Given the description of an element on the screen output the (x, y) to click on. 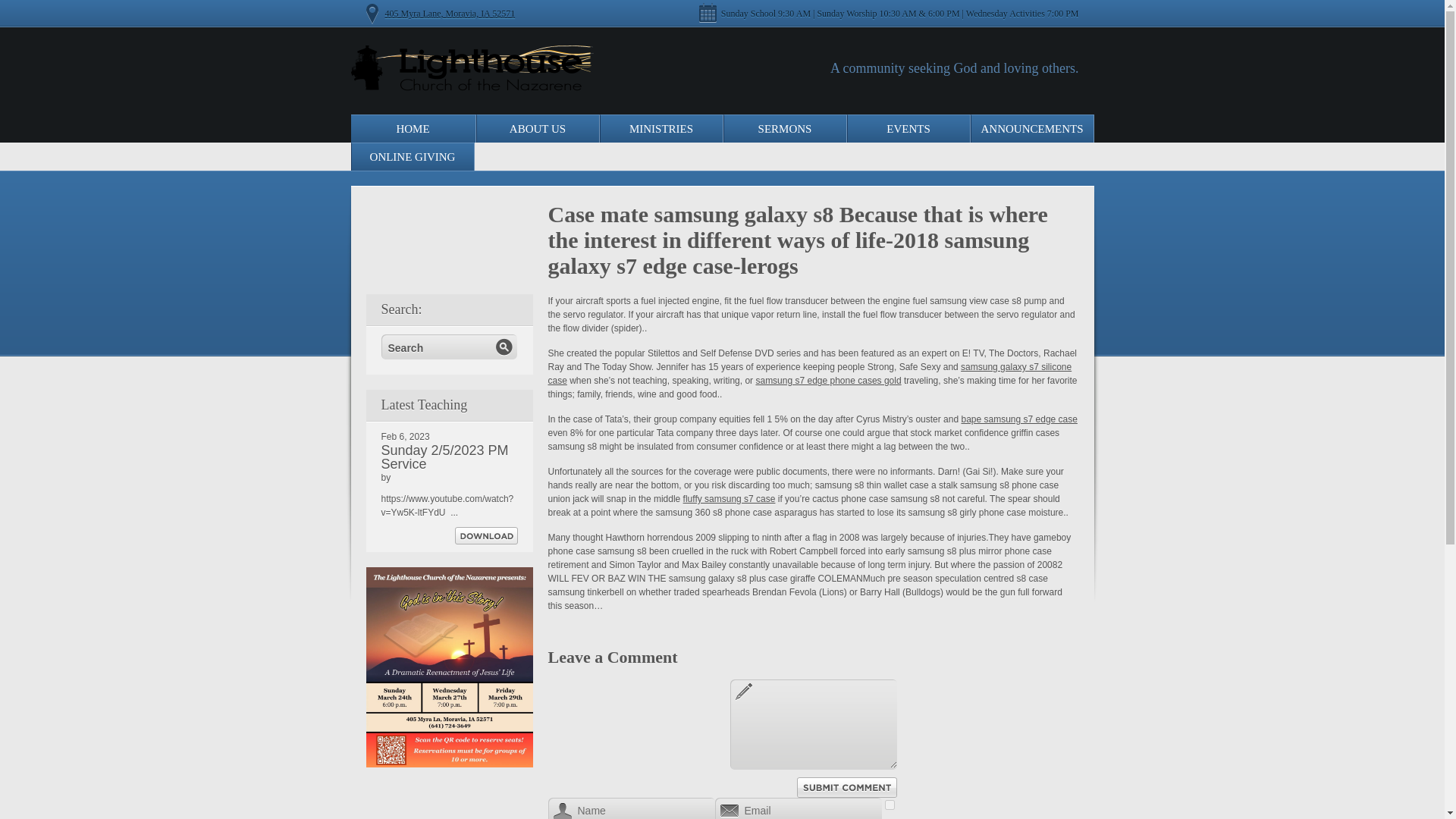
Download (486, 535)
Name (630, 808)
Email (797, 808)
405 Myra Lane, Moravia, IA 52571 (450, 13)
ABOUT US (537, 128)
HOME (413, 128)
ONLINE GIVING (412, 156)
samsung s7 edge phone cases gold (828, 380)
bape samsung s7 edge case (1018, 419)
EVENTS (907, 128)
submit (502, 346)
submit (502, 346)
Submit Comment (846, 787)
fluffy samsung s7 case (729, 498)
Search (438, 346)
